Given the description of an element on the screen output the (x, y) to click on. 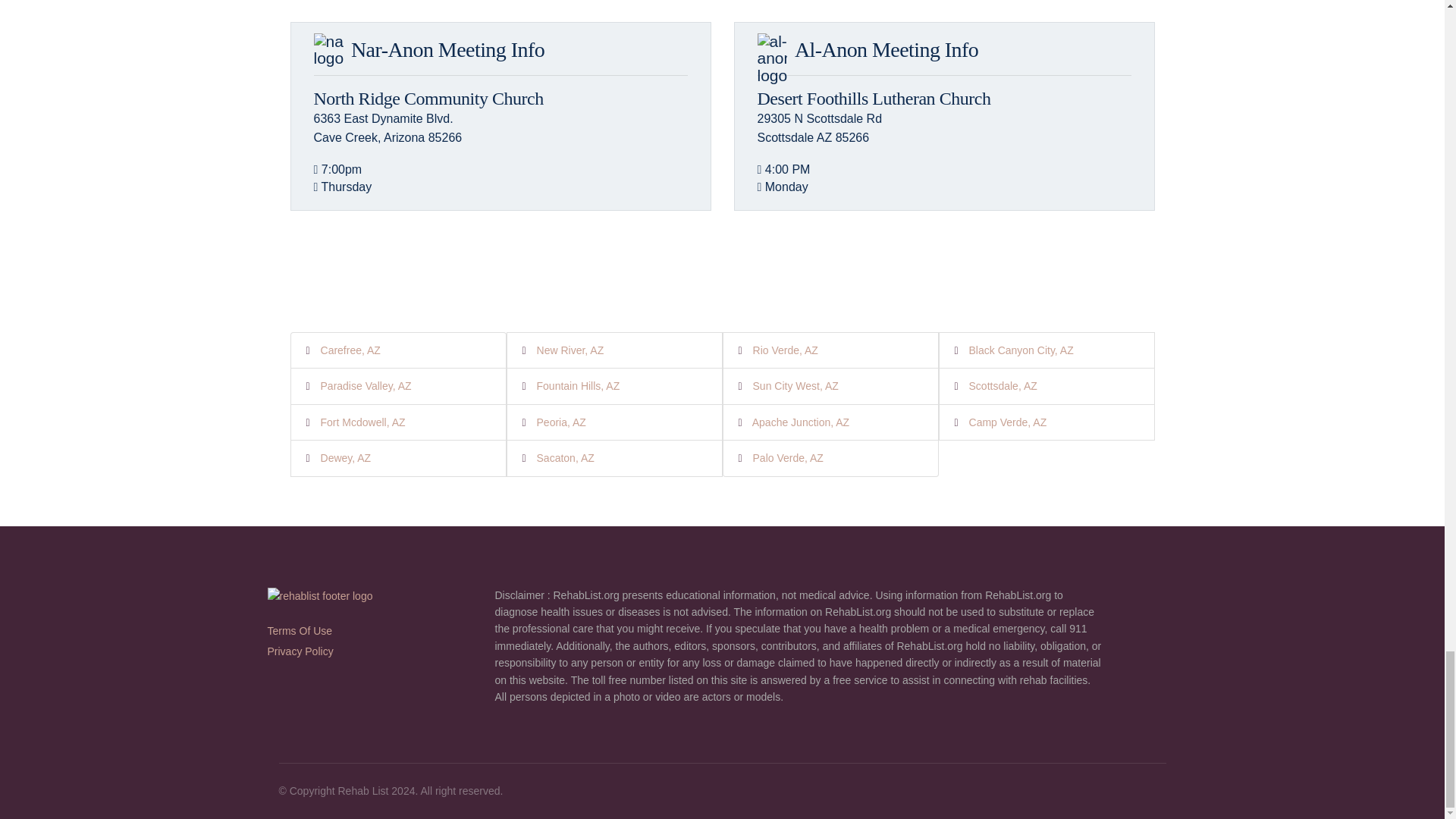
Sacaton, AZ (565, 458)
Sun City West, AZ (795, 386)
Palo Verde, AZ (788, 458)
Fountain Hills, AZ (578, 386)
Rio Verde, AZ (785, 349)
Dewey, AZ (345, 458)
Fort Mcdowell, AZ (363, 422)
Terms Of Use (298, 630)
New River, AZ (570, 349)
Scottsdale, AZ (1002, 386)
